Given the description of an element on the screen output the (x, y) to click on. 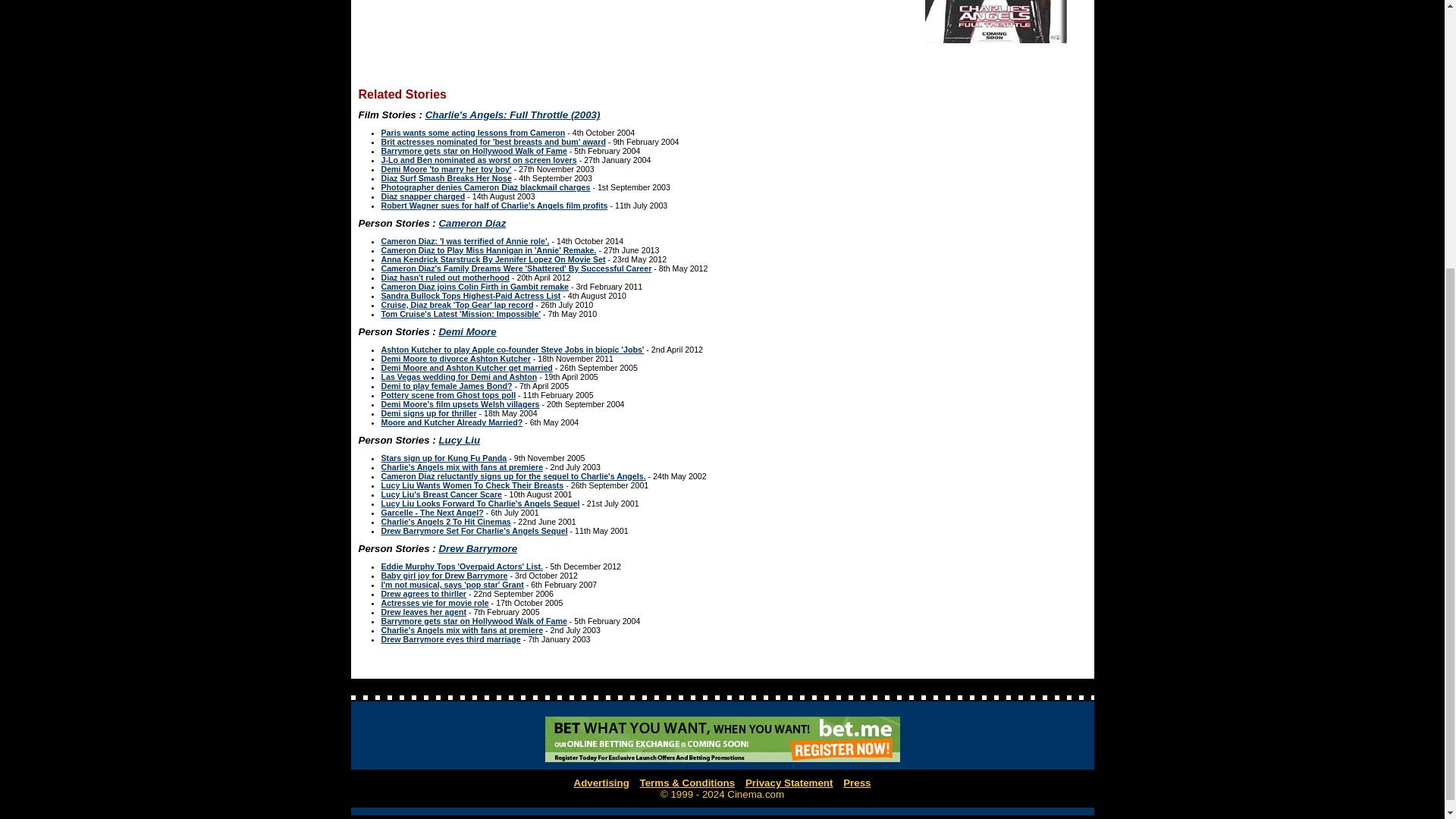
Anna Kendrick Starstruck By Jennifer Lopez On Movie Set (492, 258)
Cameron Diaz: 'I was terrified of Annie role'. (464, 240)
Demi Moore 'to marry her toy boy' (445, 168)
Cameron Diaz (471, 223)
Cameron Diaz to Play Miss Hannigan in 'Annie' Remake. (487, 249)
Advertisement (631, 26)
Robert Wagner sues for half of Charlie's Angels film profits (493, 204)
Las Vegas wedding for Demi and Ashton (458, 376)
Barrymore gets star on Hollywood Walk of Fame (473, 150)
Diaz Surf Smash Breaks Her Nose (445, 177)
Demi Moore and Ashton Kutcher get married (465, 367)
Cameron Diaz joins Colin Firth in Gambit remake (474, 286)
Demi to play female James Bond? (446, 385)
Demi Moore to divorce Ashton Kutcher (454, 358)
